Given the description of an element on the screen output the (x, y) to click on. 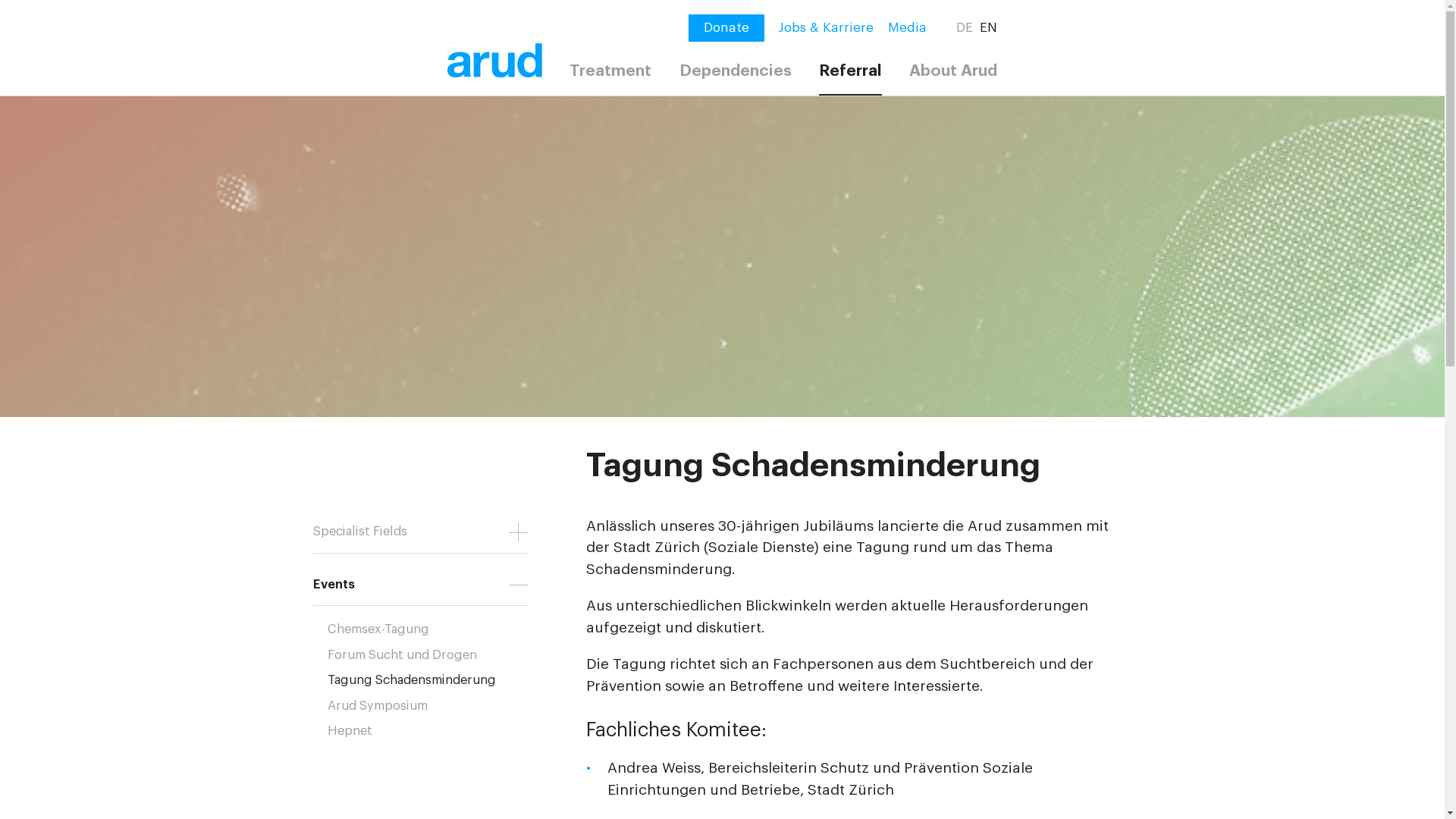
Arud Symposium Element type: text (434, 705)
arud_logo Element type: text (494, 61)
Tagung Schadensminderung Element type: text (434, 680)
EN Element type: text (988, 27)
Specialist Fields
minus
minus Element type: text (419, 526)
Referral Element type: text (850, 73)
Forum Sucht und Drogen Element type: text (434, 655)
Events
minus
minus Element type: text (419, 579)
DE Element type: text (964, 27)
Jobs & Karriere Element type: text (825, 27)
Chemsex-Tagung Element type: text (434, 629)
Treatment Element type: text (610, 72)
Hepnet Element type: text (434, 730)
Dependencies Element type: text (735, 72)
Media Element type: text (907, 27)
Donate Element type: text (726, 27)
About Arud Element type: text (953, 72)
